Given the description of an element on the screen output the (x, y) to click on. 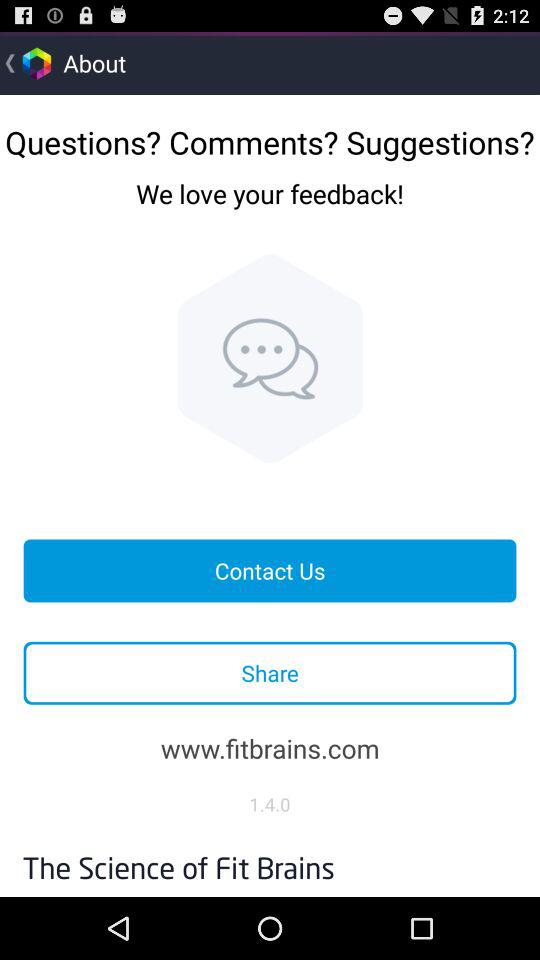
scroll to the contact us button (269, 570)
